Given the description of an element on the screen output the (x, y) to click on. 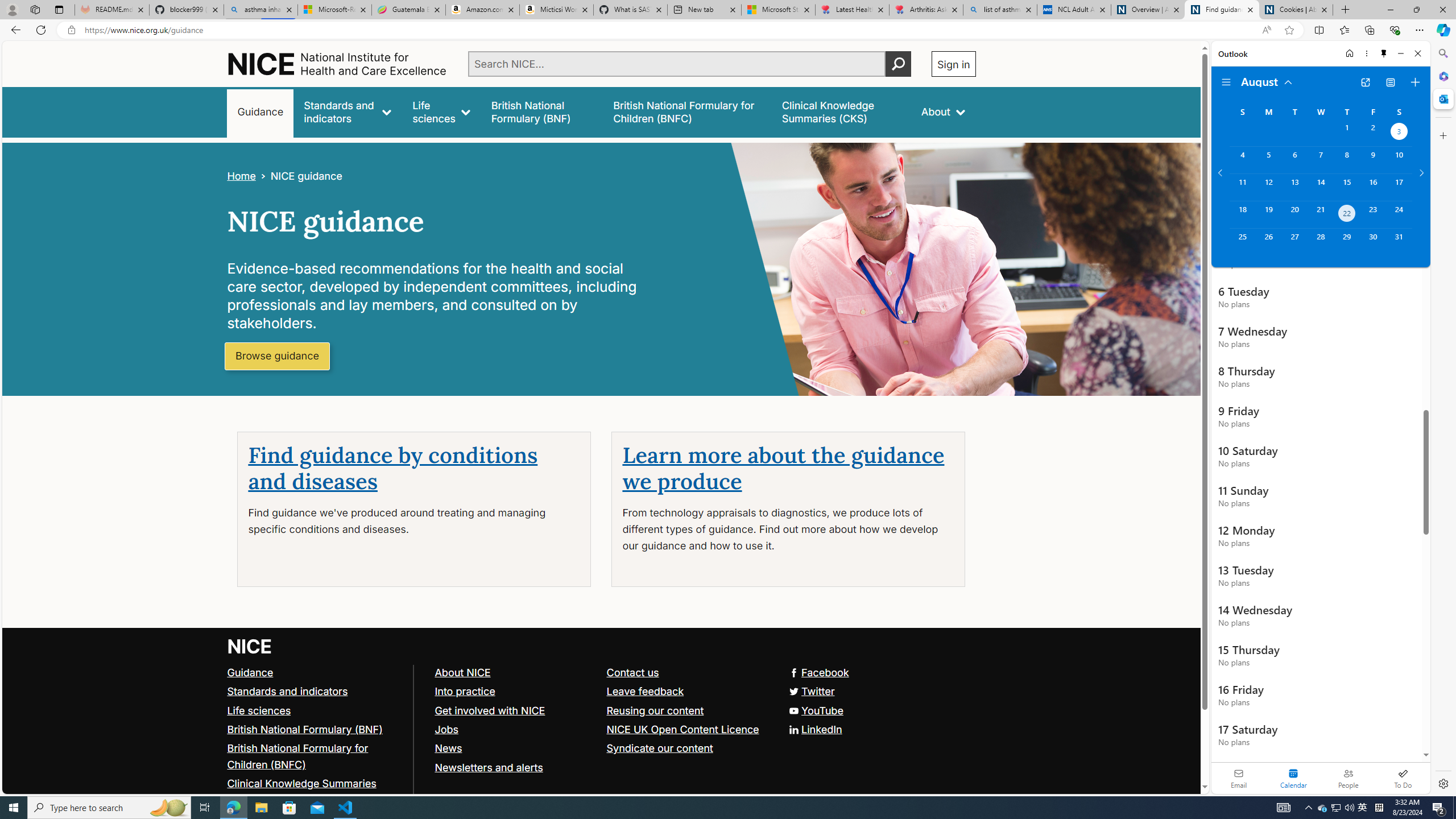
Tuesday, August 27, 2024.  (1294, 241)
Twitter (601, 691)
Jobs (445, 729)
Newsletters and alerts (488, 766)
Wednesday, August 7, 2024.  (1320, 159)
View Switcher. Current view is Agenda view (1390, 82)
Newsletters and alerts (514, 767)
Browse guidance (277, 356)
Thursday, August 29, 2024.  (1346, 241)
Wednesday, August 28, 2024.  (1320, 241)
Jobs (514, 729)
